Given the description of an element on the screen output the (x, y) to click on. 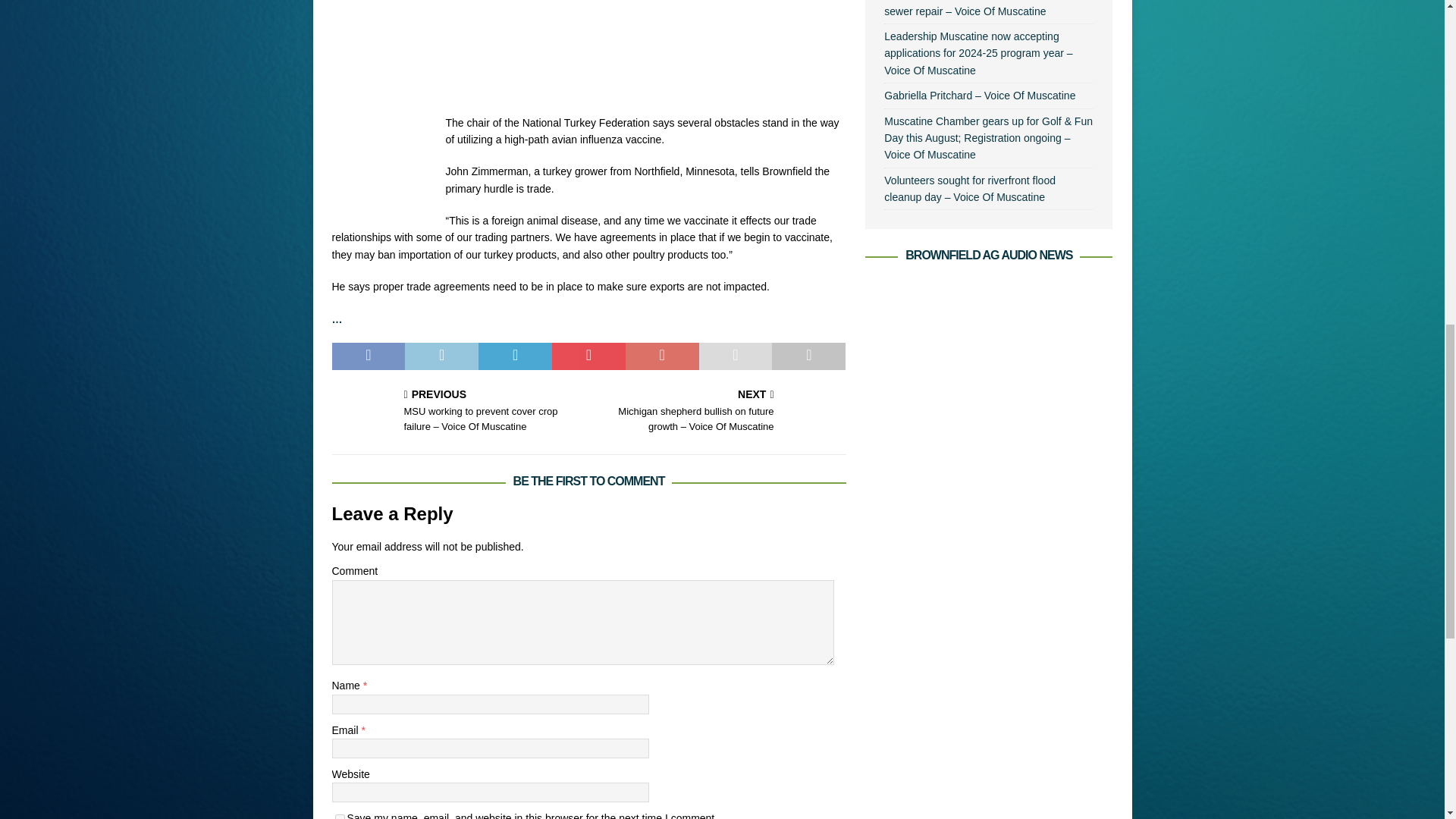
yes (339, 816)
High-path avian flu vaccine has obstacles to overcome (588, 90)
